Given the description of an element on the screen output the (x, y) to click on. 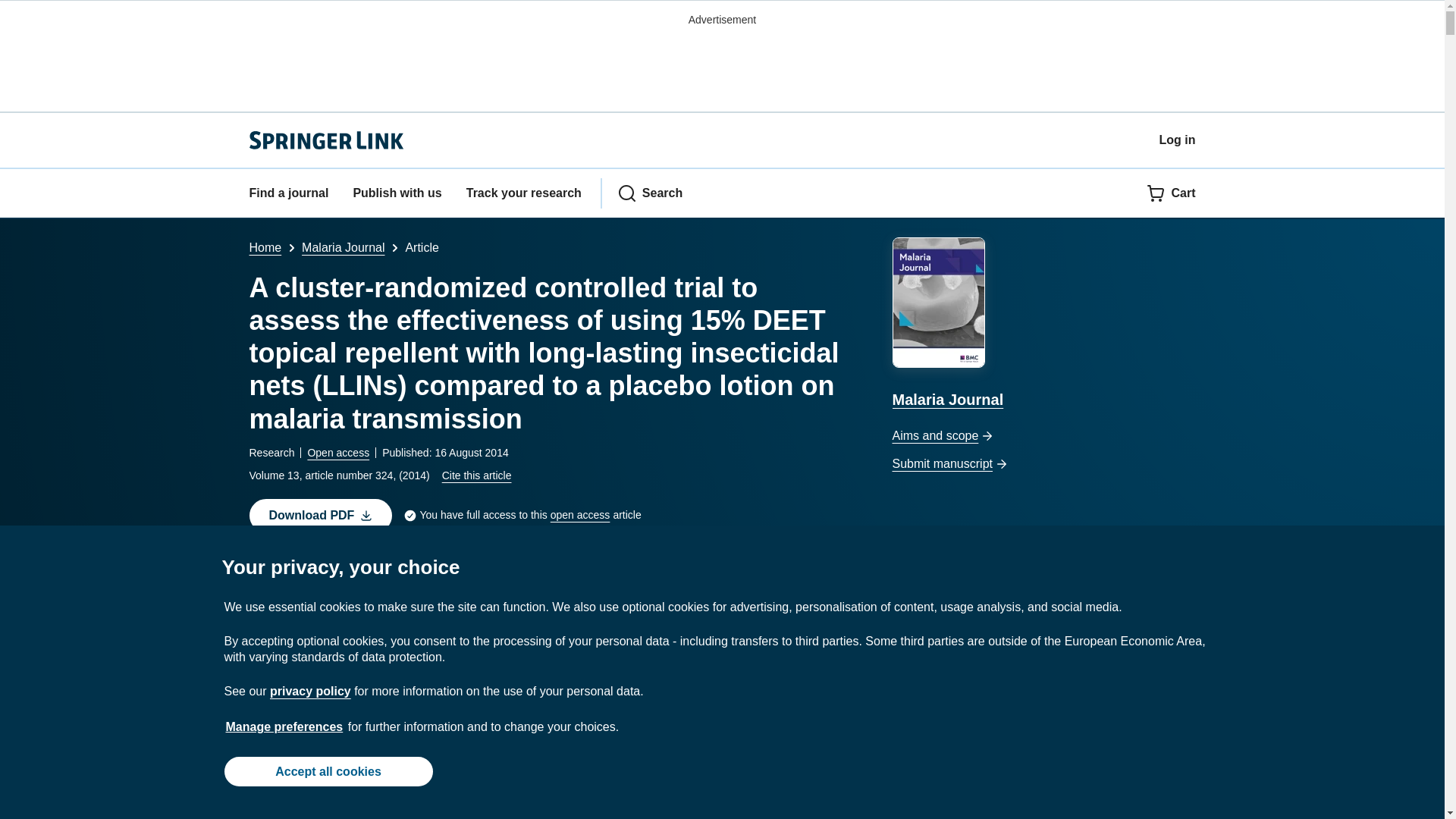
Sarah J Moore (717, 581)
Jane E Miller (627, 581)
Log in (1177, 139)
Cart (1170, 192)
Malaria Journal (342, 246)
Search (649, 192)
Onyango Sangoro (308, 581)
Malaria Journal (1043, 325)
privacy policy (309, 690)
open access (580, 515)
